Given the description of an element on the screen output the (x, y) to click on. 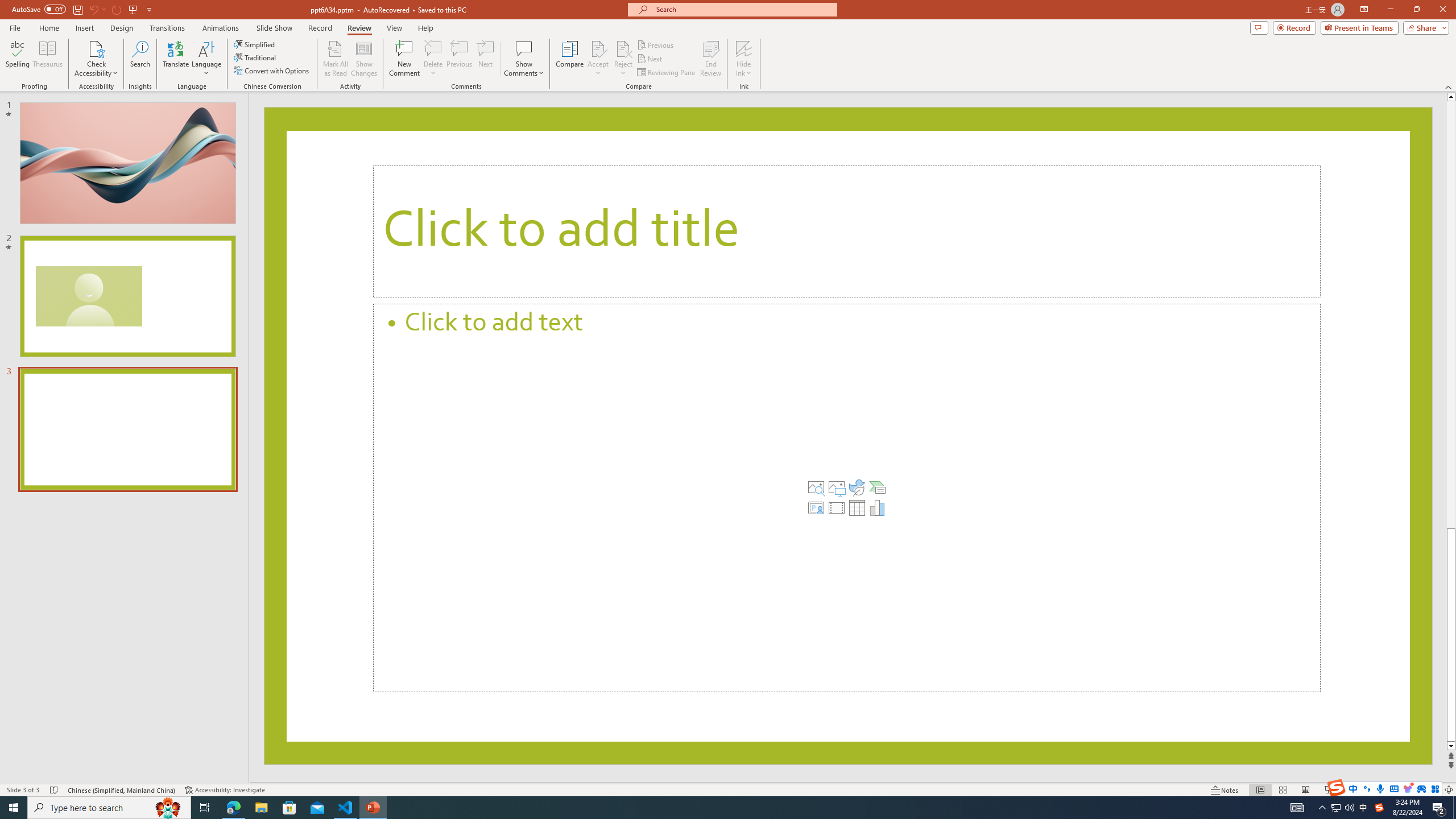
Spelling... (17, 58)
Accept (598, 58)
Previous (655, 44)
Reject (622, 58)
Translate (175, 58)
Reviewing Pane (666, 72)
